Given the description of an element on the screen output the (x, y) to click on. 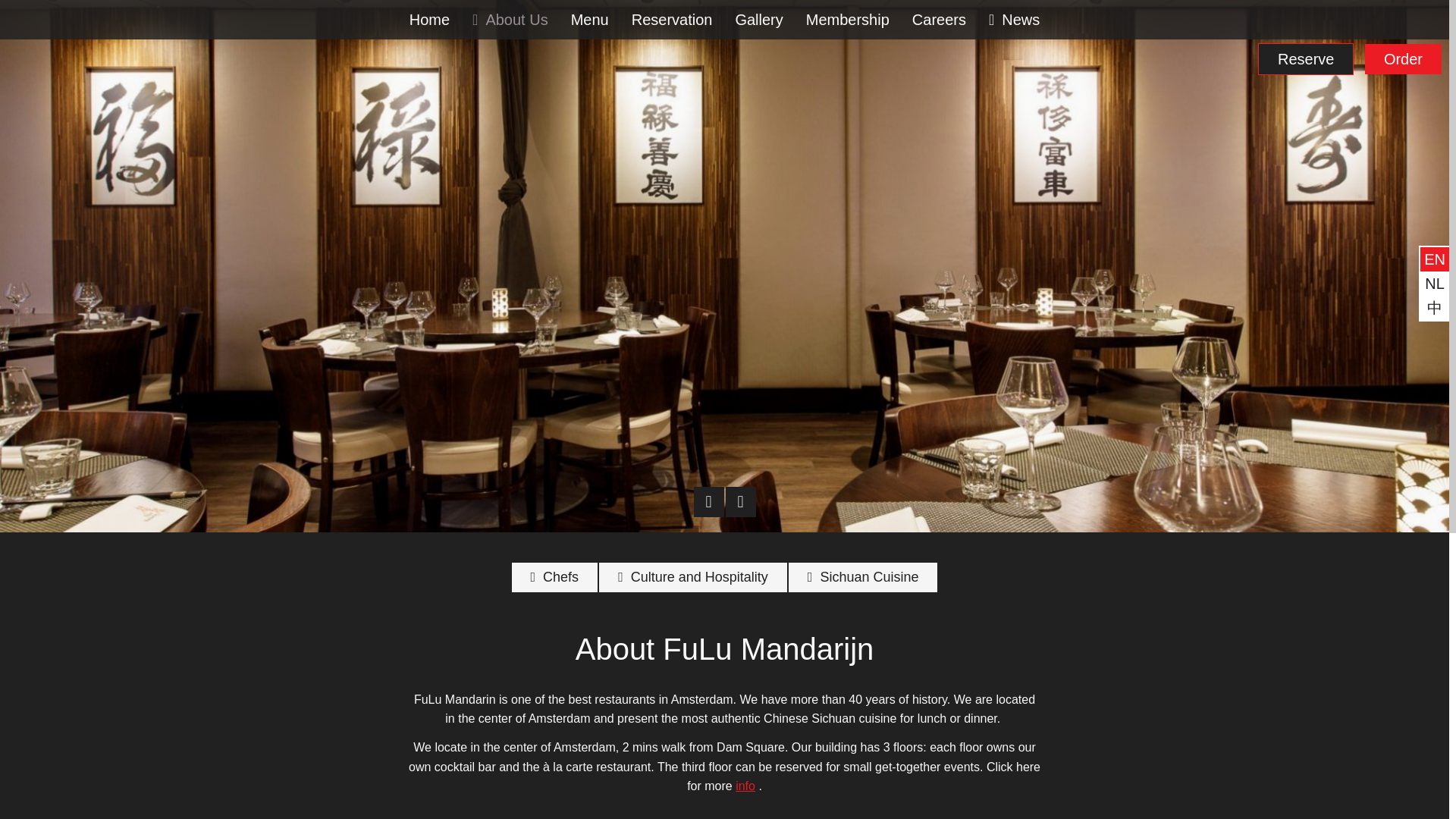
Careers (938, 19)
Order (1403, 59)
Chefs (555, 577)
Gallery (758, 19)
Menu (589, 19)
Home (429, 19)
About Us (510, 19)
Reserve (1305, 59)
Membership (847, 19)
info (745, 785)
Reservation (671, 19)
Sichuan Cuisine (863, 577)
Culture and Hospitality (692, 577)
News (1013, 19)
